Given the description of an element on the screen output the (x, y) to click on. 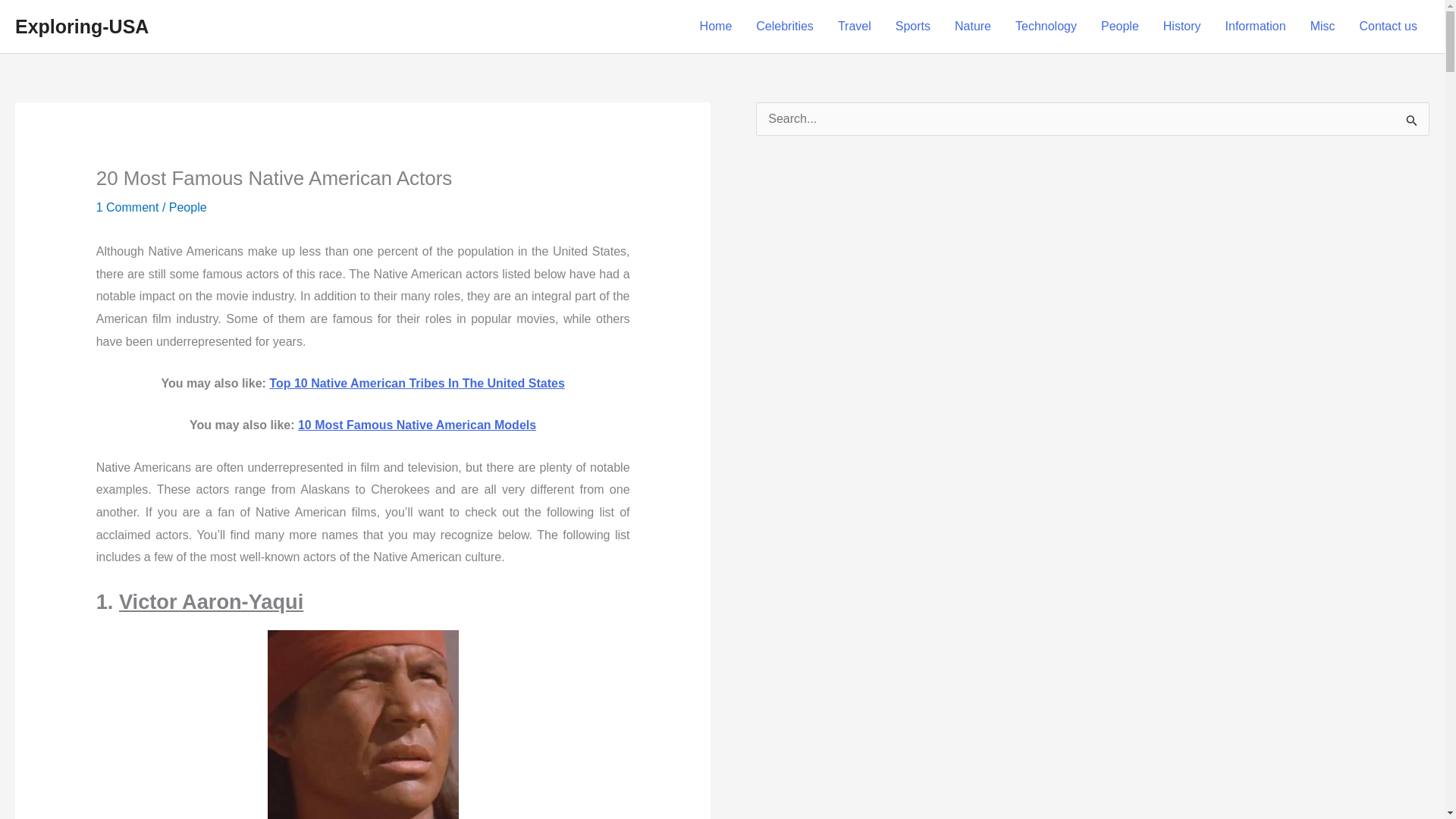
Nature (972, 26)
Celebrities (784, 26)
10 Most Famous Native American Models (416, 424)
Exploring-USA (81, 25)
History (1181, 26)
Sports (912, 26)
Home (715, 26)
People (187, 206)
Misc (1323, 26)
1 Comment (127, 206)
